Given the description of an element on the screen output the (x, y) to click on. 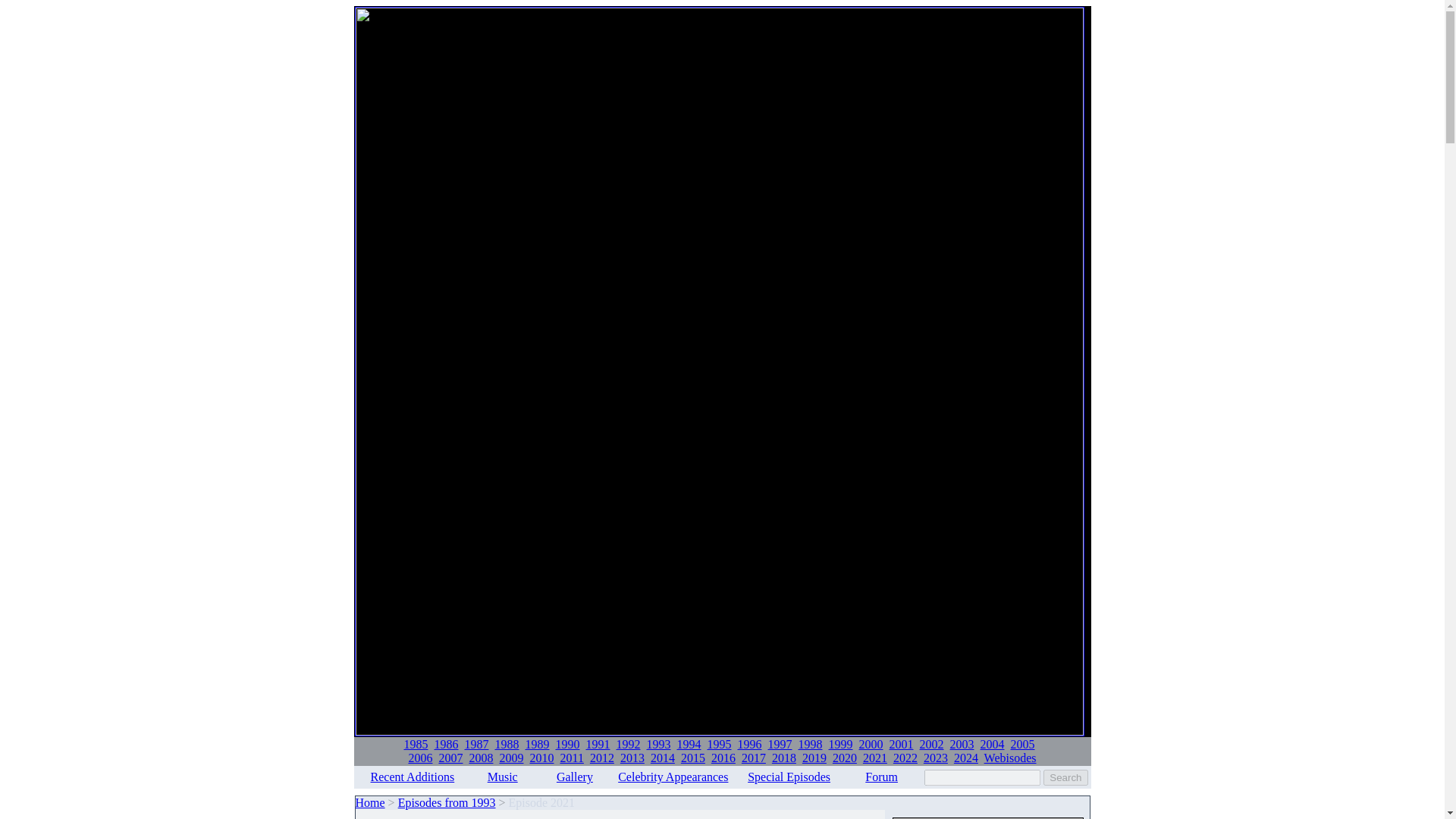
2022 (905, 757)
2005 (1021, 744)
2016 (723, 757)
1987 (475, 744)
1996 (748, 744)
2004 (991, 744)
2023 (935, 757)
1992 (627, 744)
1994 (688, 744)
2015 (692, 757)
